Given the description of an element on the screen output the (x, y) to click on. 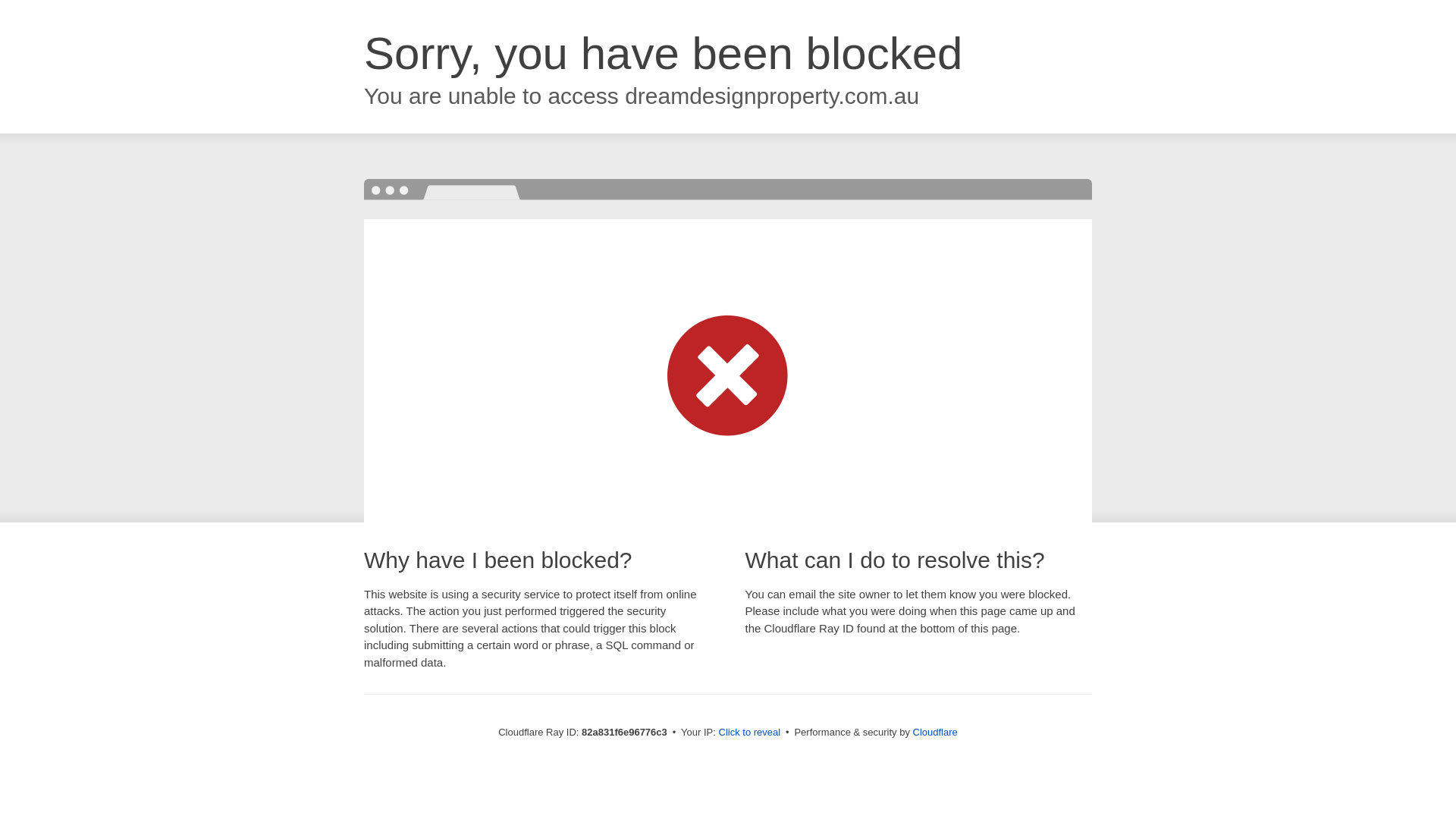
Click to reveal Element type: text (749, 732)
Cloudflare Element type: text (935, 731)
